Given the description of an element on the screen output the (x, y) to click on. 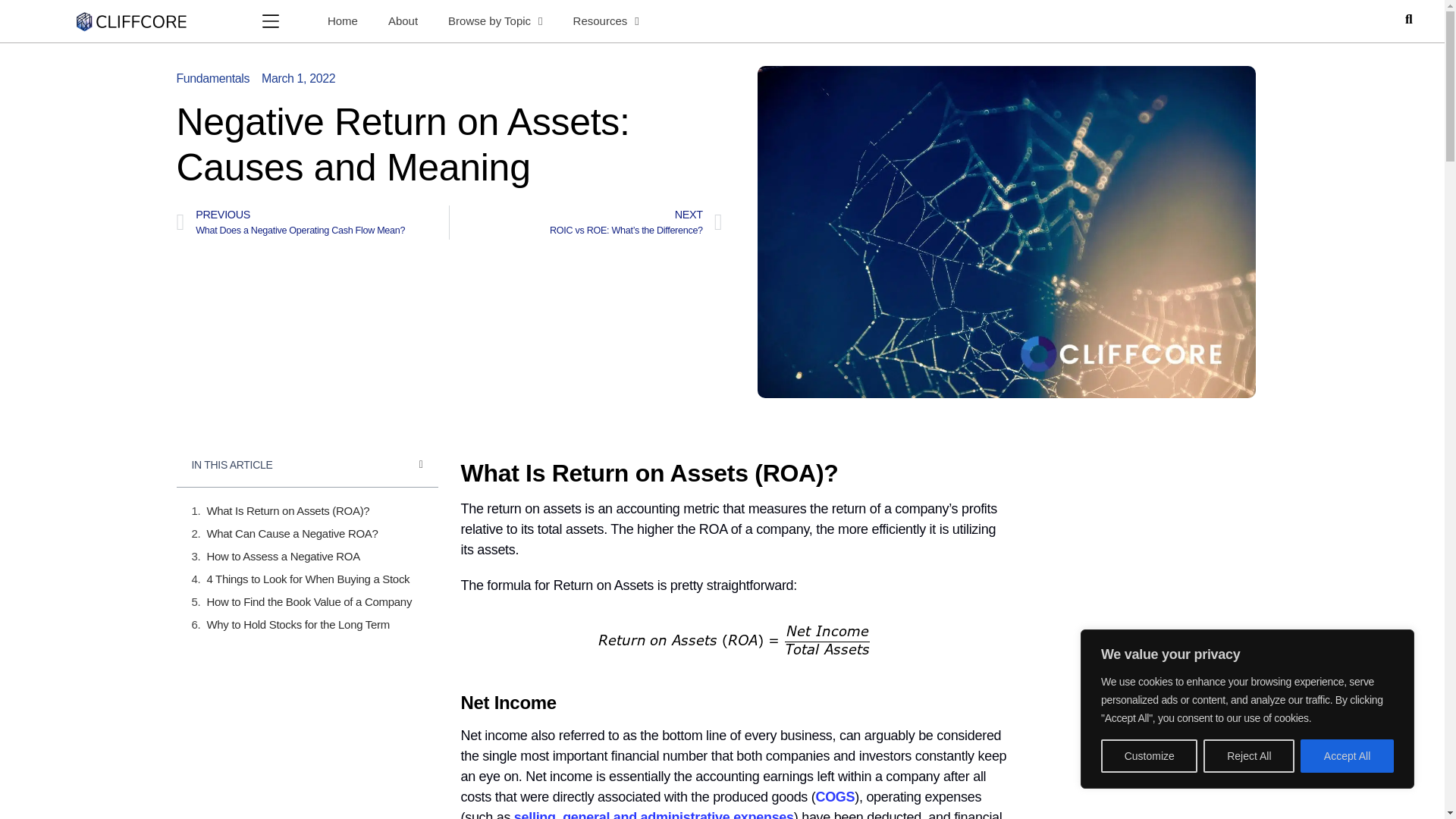
Browse by Topic (494, 21)
Home (342, 21)
About (402, 21)
Reject All (1249, 756)
Accept All (1346, 756)
Resources (605, 21)
menu (270, 21)
menu (270, 20)
Customize (1148, 756)
